Given the description of an element on the screen output the (x, y) to click on. 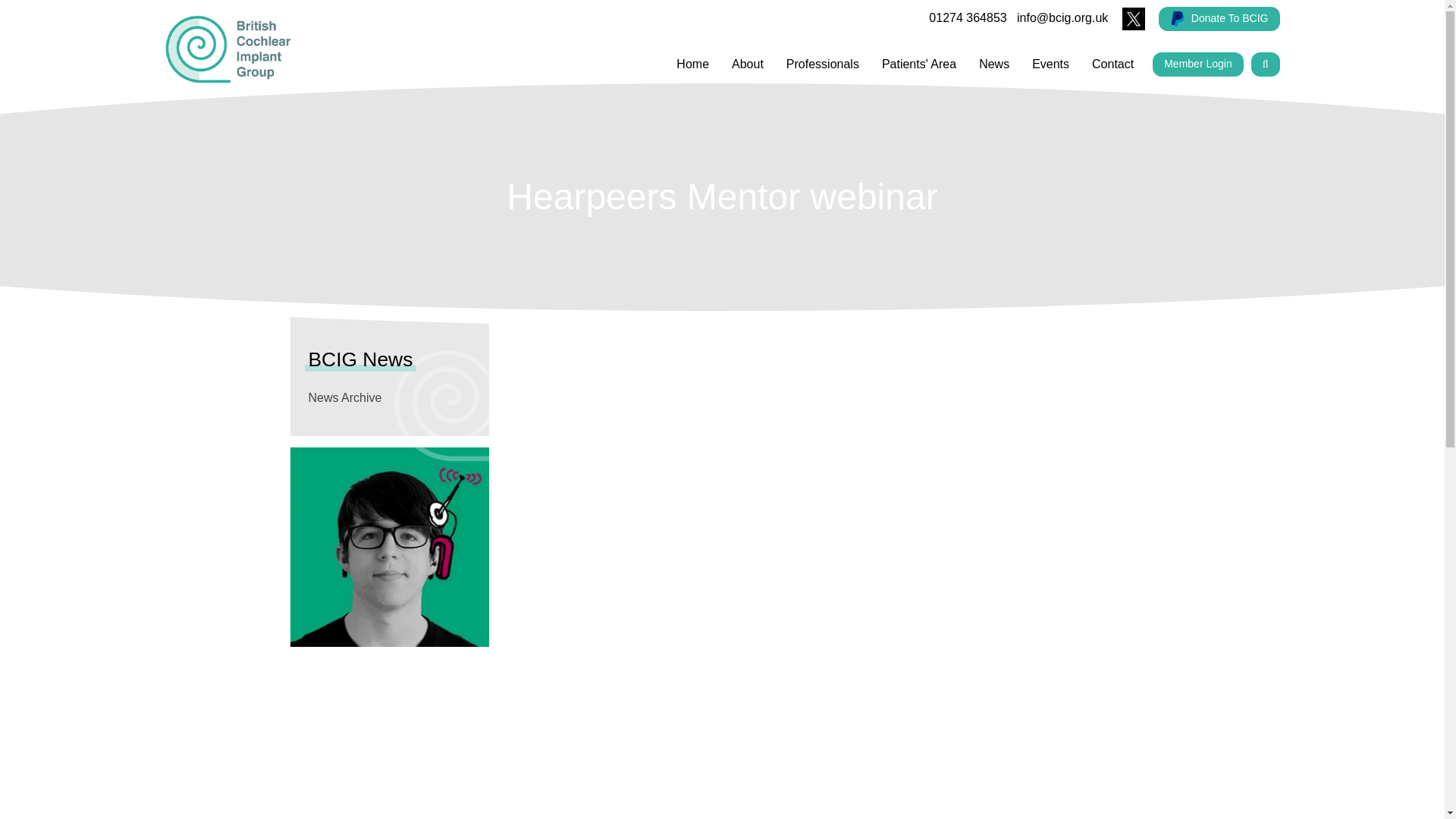
Home (692, 64)
Patients' Area (919, 64)
01274 364853 (967, 17)
  Donate To BCIG (1218, 18)
Professionals (822, 64)
About (747, 64)
